Given the description of an element on the screen output the (x, y) to click on. 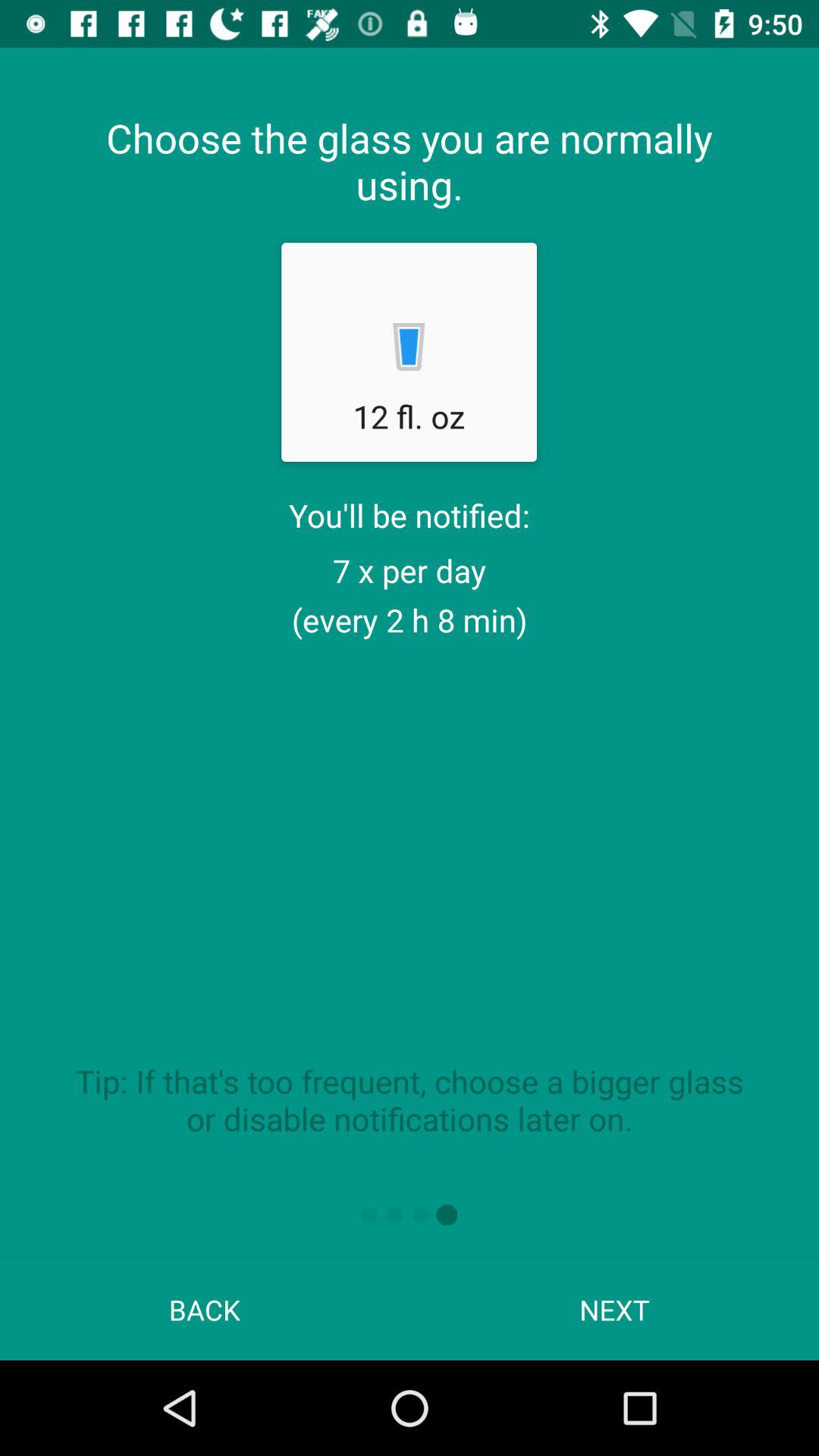
open the back app (204, 1309)
